Given the description of an element on the screen output the (x, y) to click on. 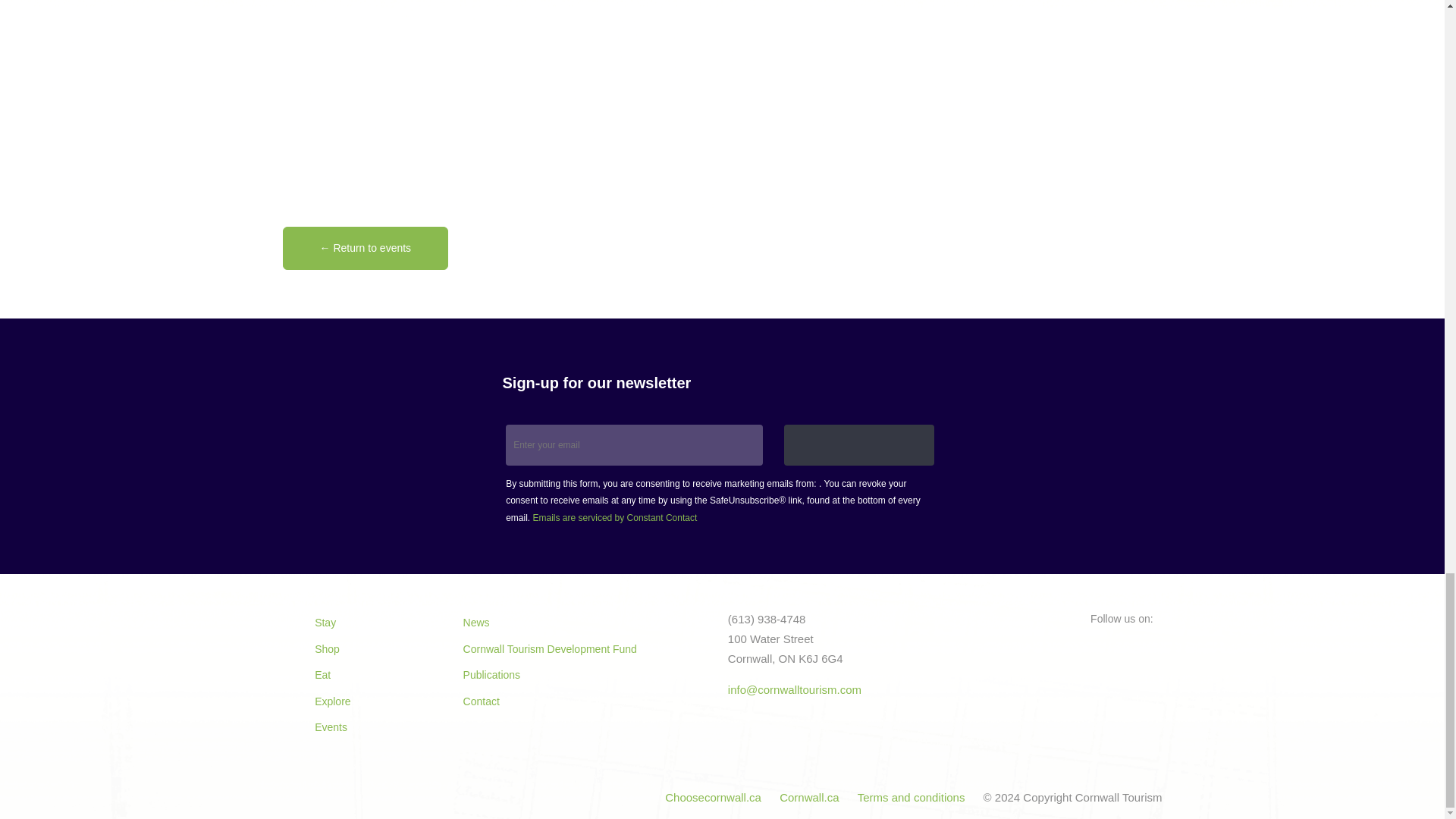
Sign up (859, 445)
